Given the description of an element on the screen output the (x, y) to click on. 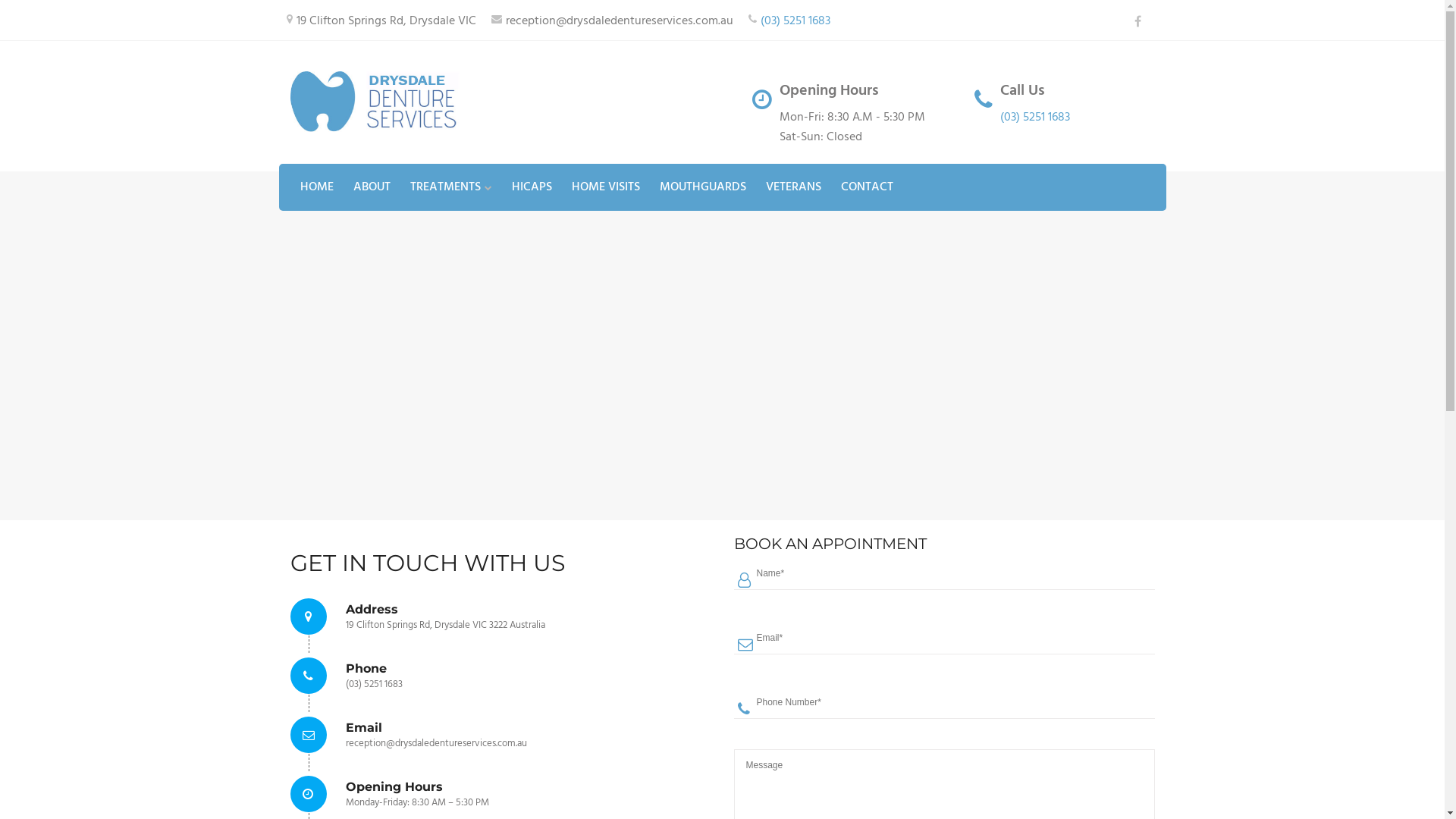
reception@drysdaledentureservices.com.au Element type: text (618, 21)
MOUTHGUARDS Element type: text (702, 187)
CONTACT Element type: text (866, 187)
ABOUT Element type: text (371, 187)
Facebook Element type: hover (1137, 21)
TREATMENTS Element type: text (450, 187)
VETERANS Element type: text (793, 187)
HICAPS Element type: text (531, 187)
HOME VISITS Element type: text (605, 187)
HOME Element type: text (316, 187)
(03) 5251 1683 Element type: text (794, 21)
(03) 5251 1683 Element type: text (1035, 117)
